Given the description of an element on the screen output the (x, y) to click on. 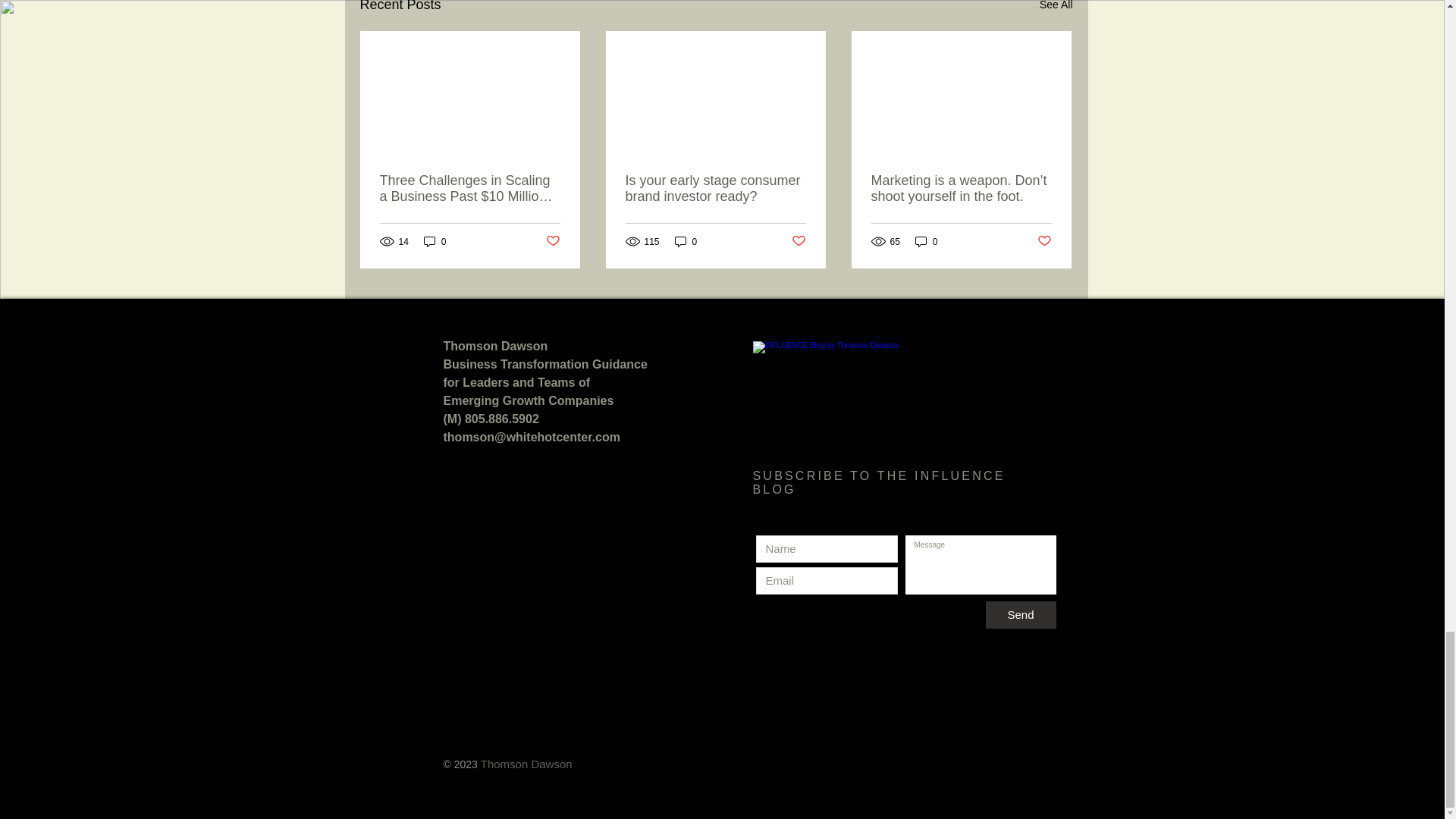
0 (926, 241)
Post not marked as liked (799, 241)
0 (435, 241)
Post not marked as liked (1043, 241)
Post not marked as liked (553, 241)
Is your early stage consumer brand investor ready? (714, 188)
See All (1056, 7)
0 (685, 241)
